Given the description of an element on the screen output the (x, y) to click on. 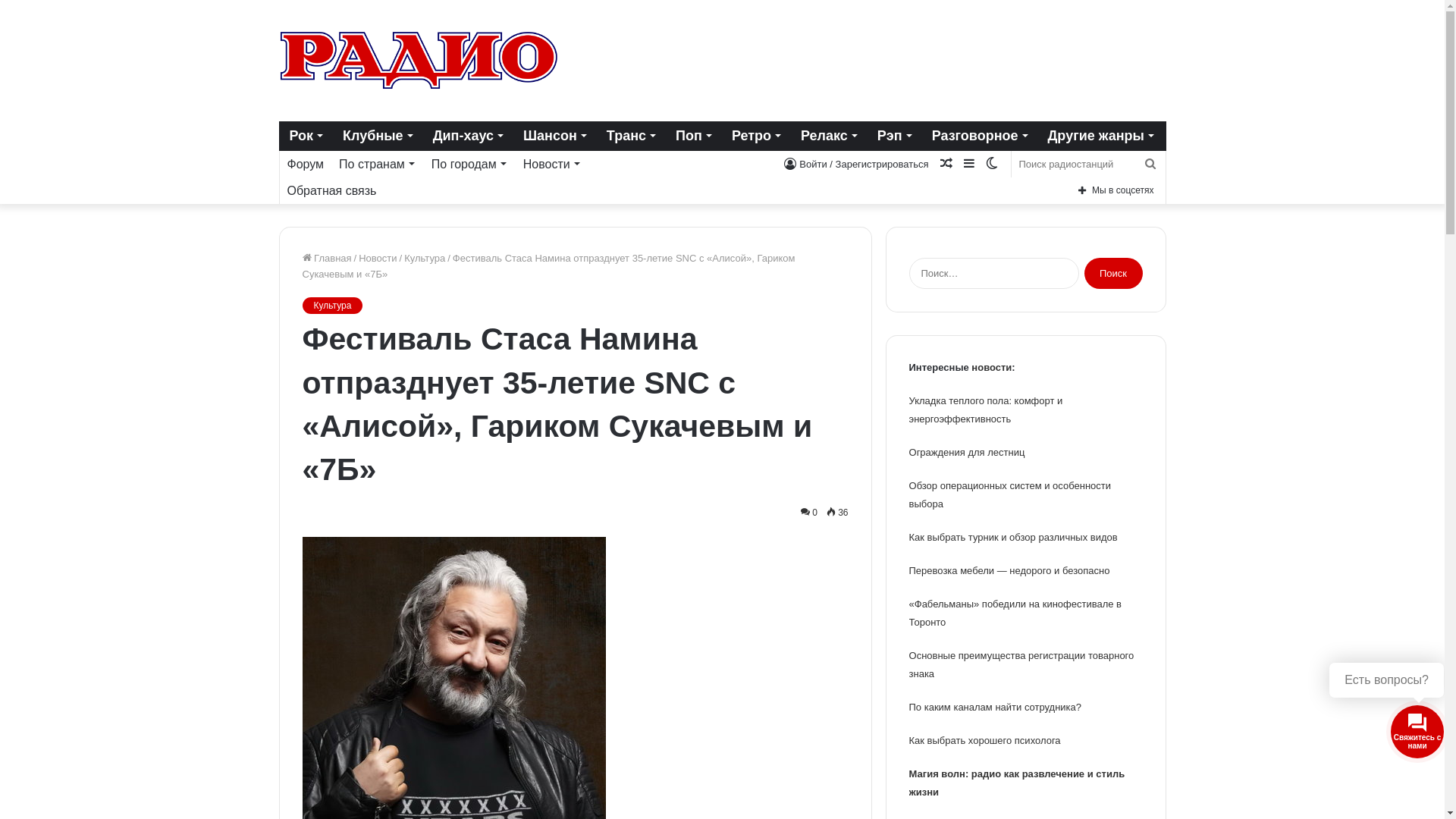
Sidebar Element type: text (968, 163)
Switch skin Element type: text (990, 163)
